Given the description of an element on the screen output the (x, y) to click on. 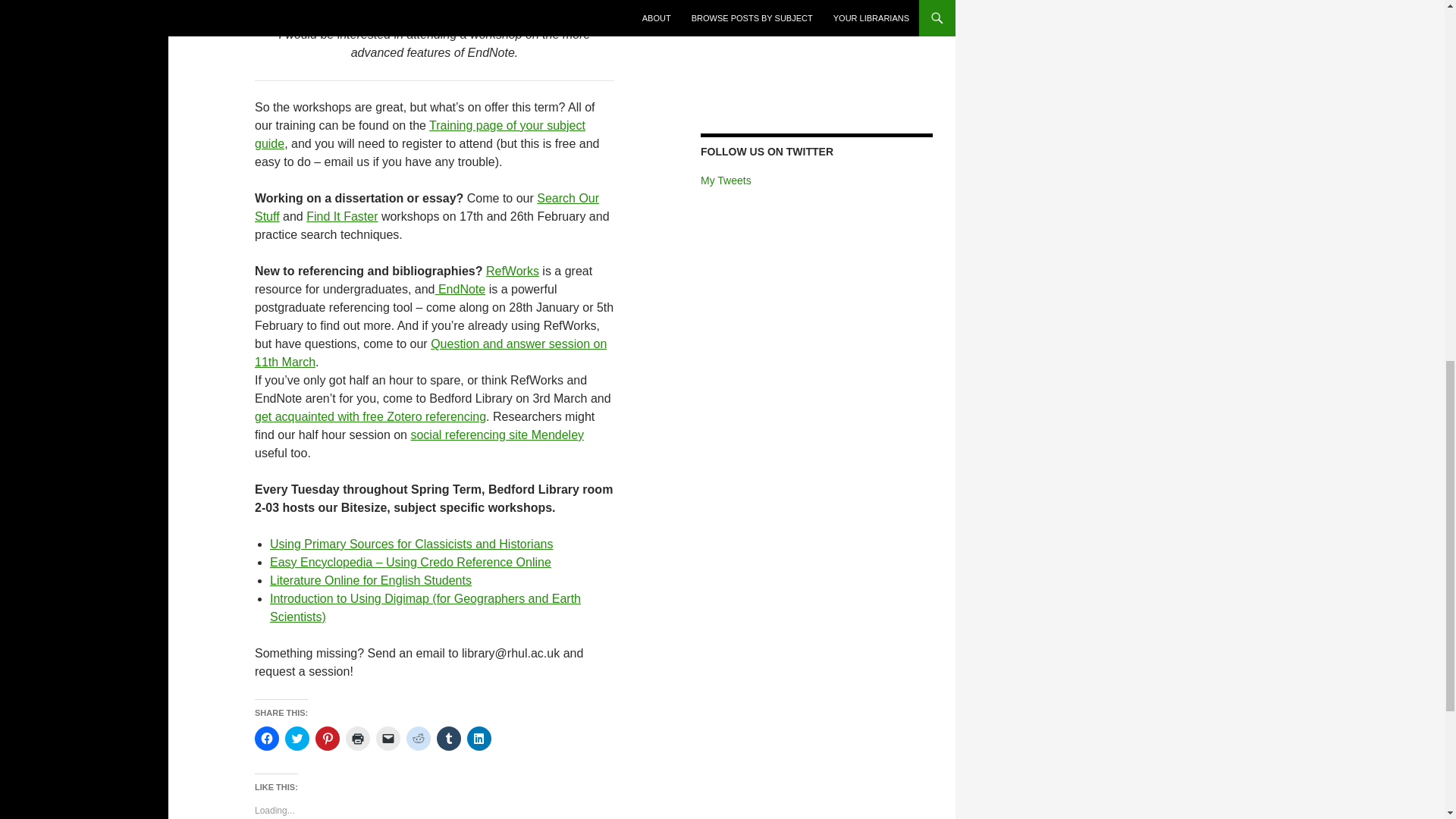
Click to share on Reddit (418, 738)
Training page of your subject guide (419, 133)
Click to share on Twitter (296, 738)
Literature Online for English Students (370, 580)
Click to share on LinkedIn (479, 738)
EndNote (458, 288)
Click to share on Tumblr (448, 738)
Find It Faster (341, 215)
RefWorks (512, 270)
get acquainted with free Zotero referencing (370, 416)
